Given the description of an element on the screen output the (x, y) to click on. 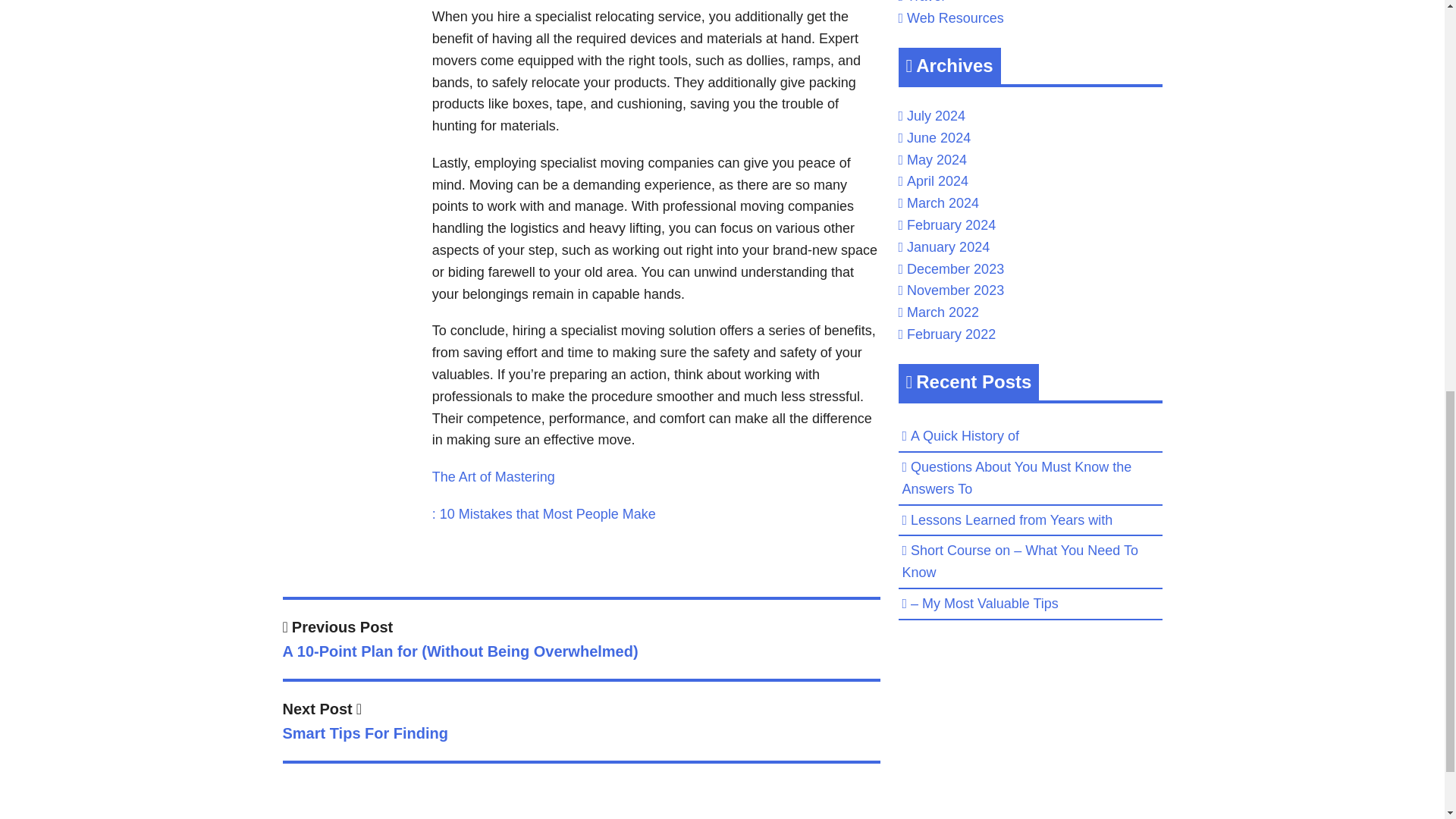
Travel (925, 2)
: 10 Mistakes that Most People Make (544, 513)
Web Resources (581, 723)
The Art of Mastering (955, 17)
